Given the description of an element on the screen output the (x, y) to click on. 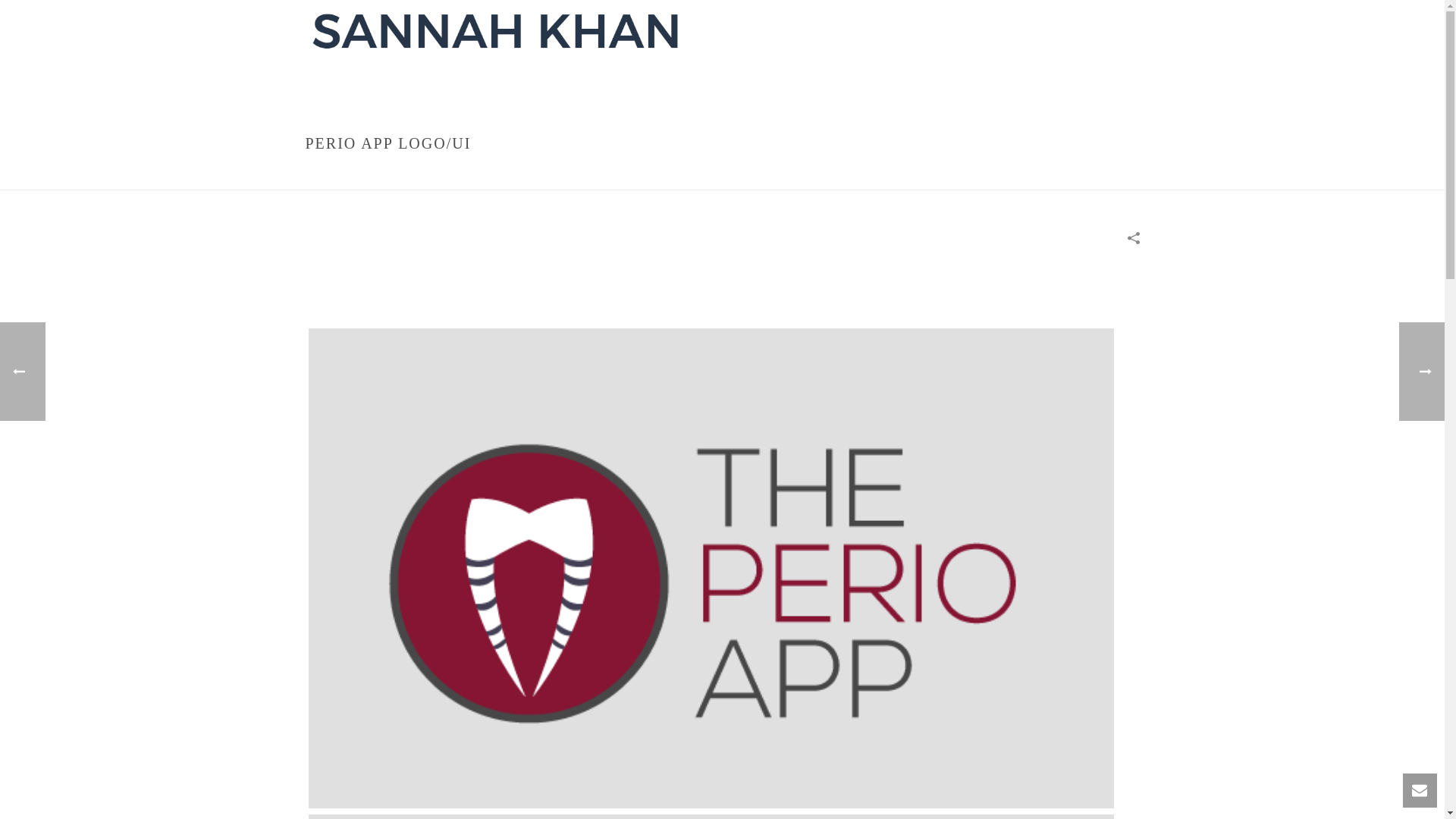
HOME (877, 175)
CORPORATE IDENTITY (950, 175)
Portfolio (495, 33)
